Given the description of an element on the screen output the (x, y) to click on. 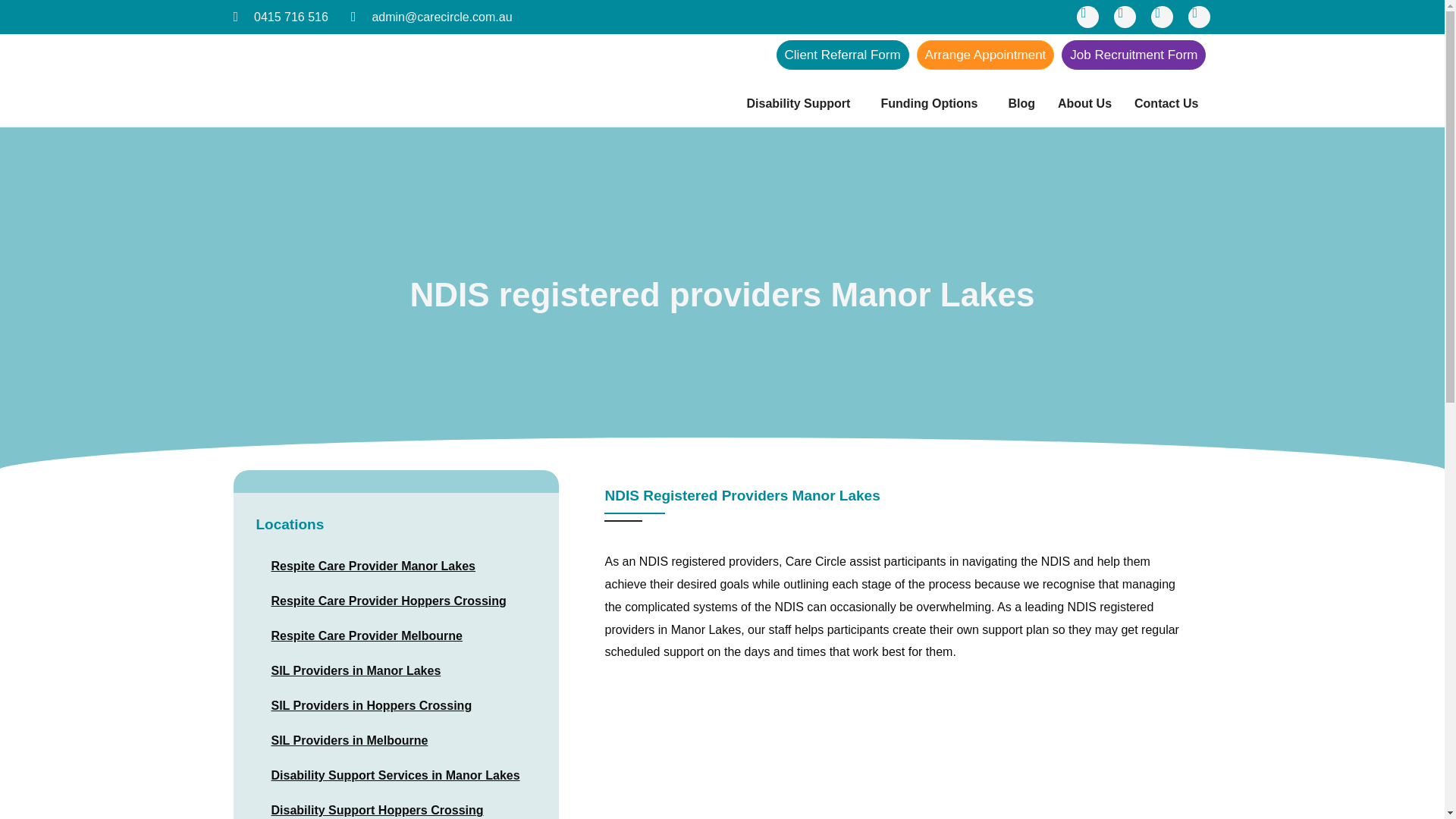
Blog (1020, 103)
0415 716 516 (280, 16)
Twitter (1162, 16)
Job Recruitment Form (1133, 54)
About Us (1084, 103)
Arrange Appointment (985, 54)
Contact Us (1165, 103)
Facebook (1088, 16)
Disability Support (802, 103)
Youtube (1198, 16)
